Given the description of an element on the screen output the (x, y) to click on. 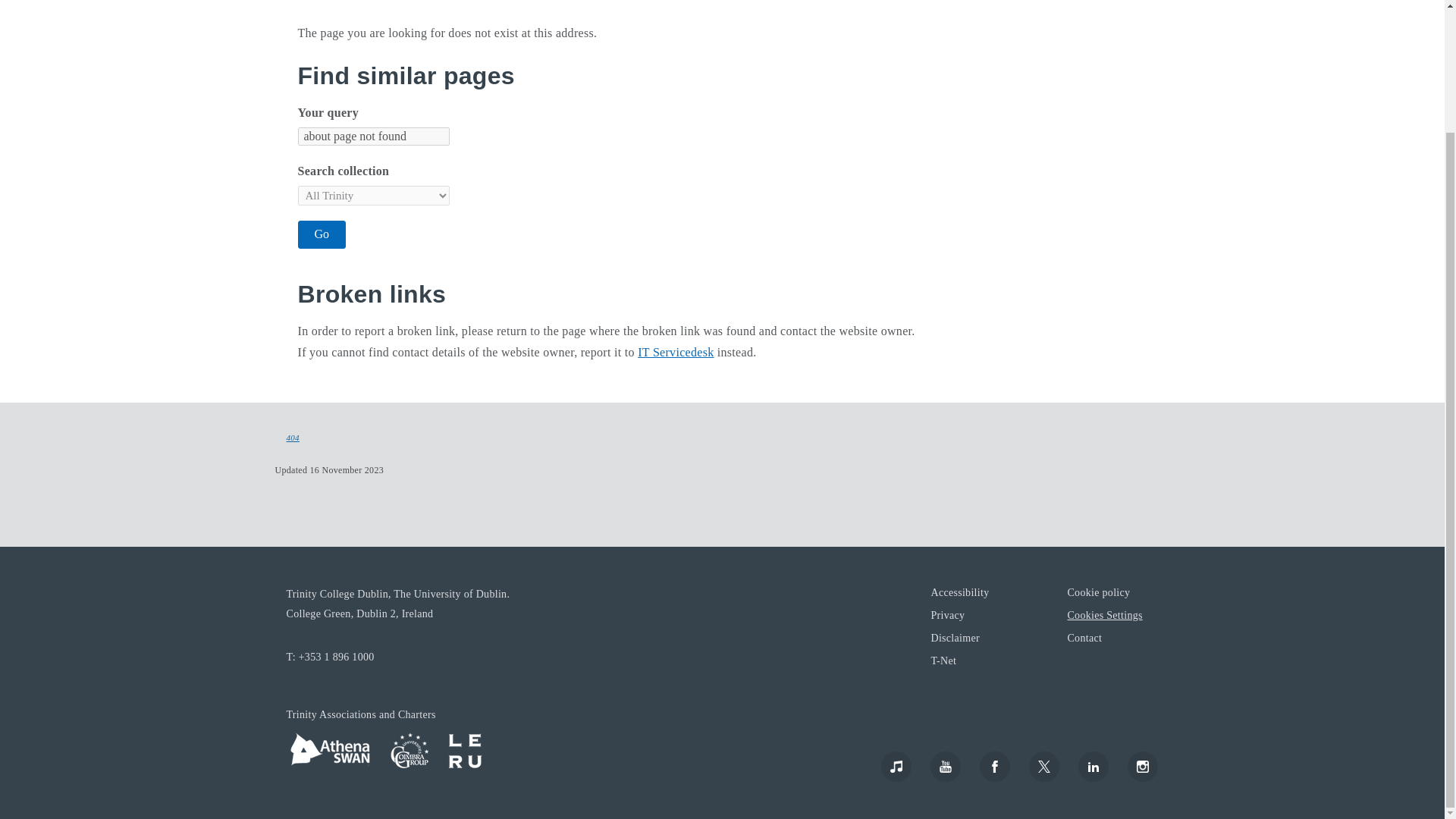
Contact (1084, 636)
IT Servicedesk (675, 351)
Privacy (946, 614)
 about page not found  (372, 136)
404 (292, 438)
Go (321, 234)
Cookies Settings (1104, 614)
T-Net (943, 659)
Disclaimer (954, 636)
Cookie policy (1098, 591)
